Given the description of an element on the screen output the (x, y) to click on. 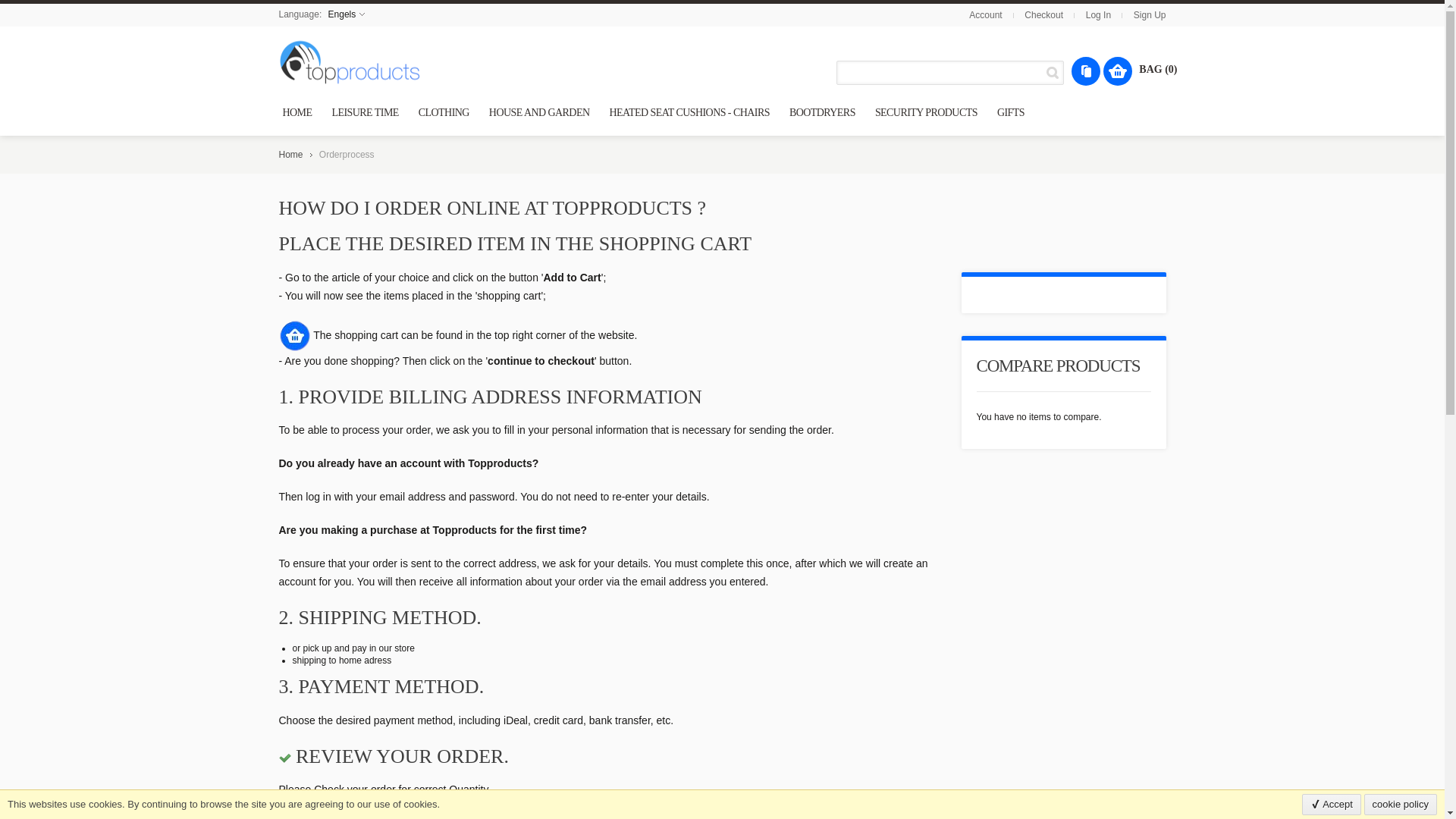
Log In (1098, 14)
HOME (296, 111)
Checkout (1043, 14)
LEISURE TIME (364, 111)
Go to Home Page (290, 154)
HEATED SEAT CUSHIONS - CHAIRS (688, 111)
naar het winkelmandje (295, 334)
BOOTDRYERS (822, 111)
Sign Up (1150, 14)
HOUSE AND GARDEN (538, 111)
SECURITY PRODUCTS (926, 111)
Account (985, 14)
Checkout (1043, 14)
CLOTHING (443, 111)
Topproducts (349, 62)
